Given the description of an element on the screen output the (x, y) to click on. 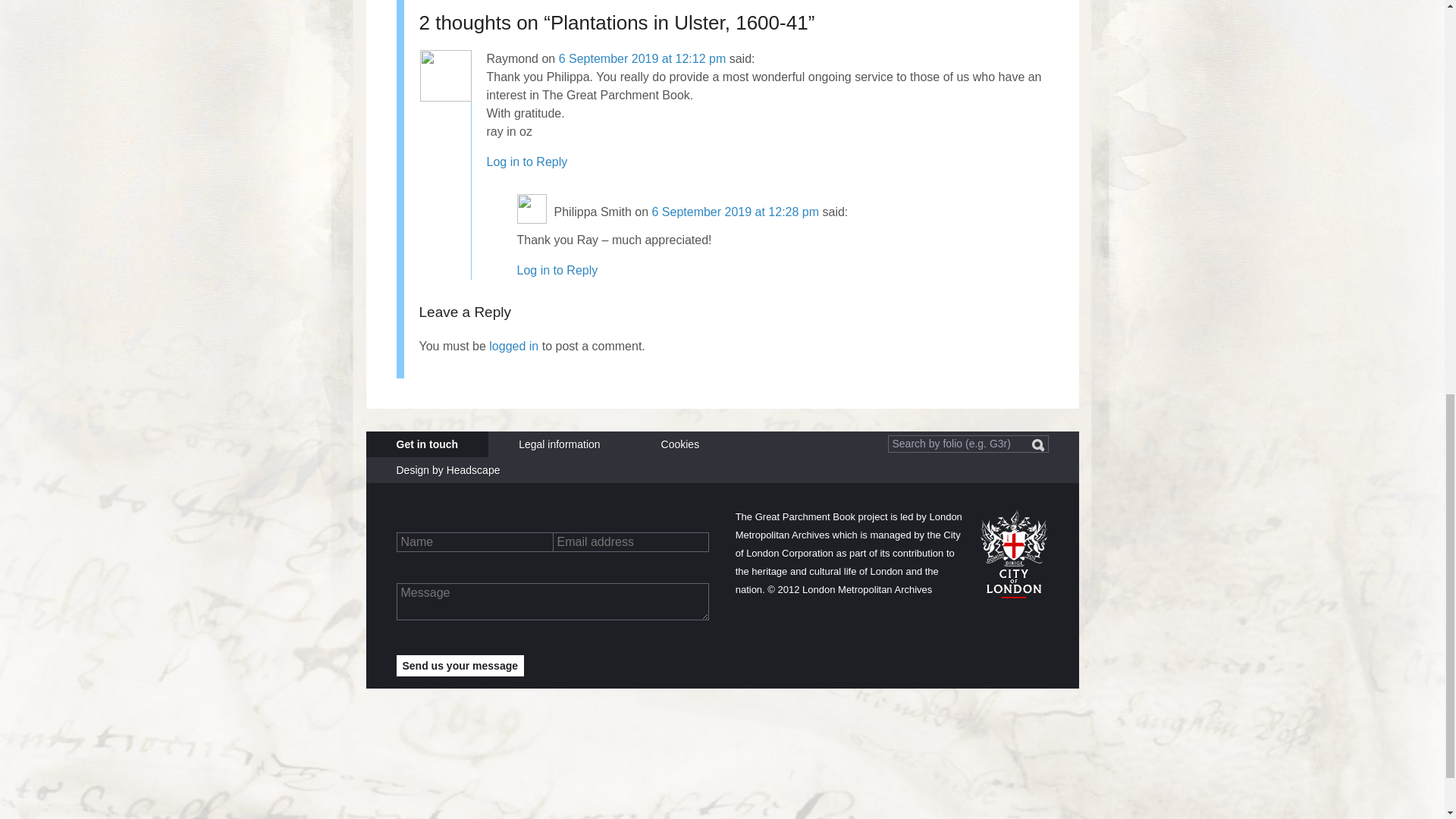
Go (1036, 445)
logged in (513, 345)
6 September 2019 at 12:28 pm (734, 210)
Get in touch (426, 444)
Log in to Reply (526, 161)
Send us your message (460, 665)
Design by Headscape (447, 470)
Go (1036, 445)
Log in to Reply (557, 269)
Send us your message (460, 665)
6 September 2019 at 12:12 pm (642, 58)
Cookies (680, 444)
Legal information (558, 444)
